Given the description of an element on the screen output the (x, y) to click on. 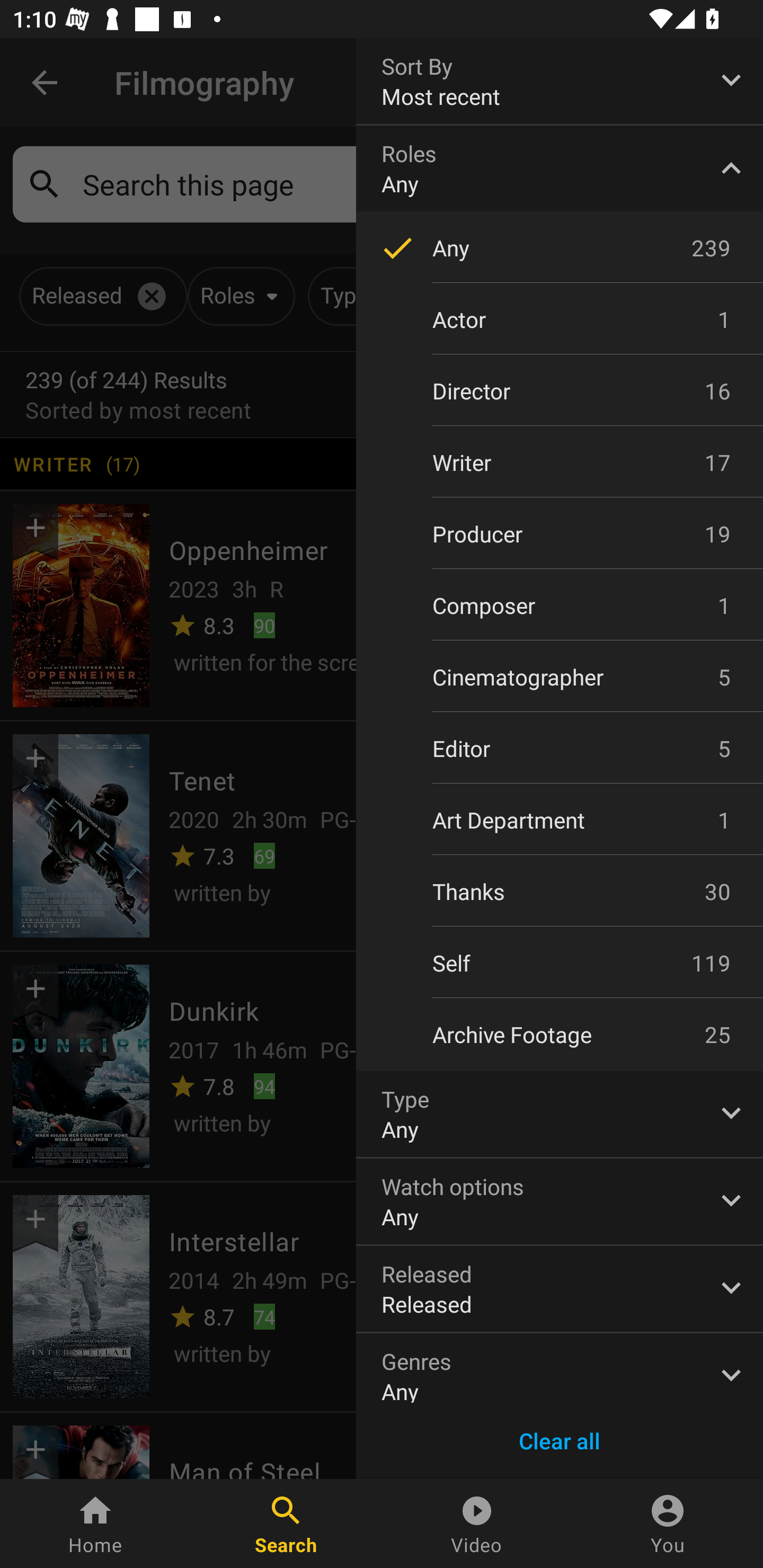
Sort By Most recent (559, 80)
Roles Any (559, 168)
Any 239 (559, 247)
Actor 1 (559, 318)
Director 16 (559, 390)
Writer 17 (559, 462)
Producer 19 (559, 533)
Composer 1 (559, 604)
Cinematographer 5 (559, 676)
Editor 5 (559, 748)
Art Department 1 (559, 819)
Thanks 30 (559, 891)
Self 119 (559, 962)
Archive Footage 25 (559, 1034)
Type Any (559, 1113)
Watch options Any (559, 1201)
Released (559, 1288)
Genres Any (559, 1367)
Clear all (559, 1440)
Home (95, 1523)
Video (476, 1523)
You (667, 1523)
